Given the description of an element on the screen output the (x, y) to click on. 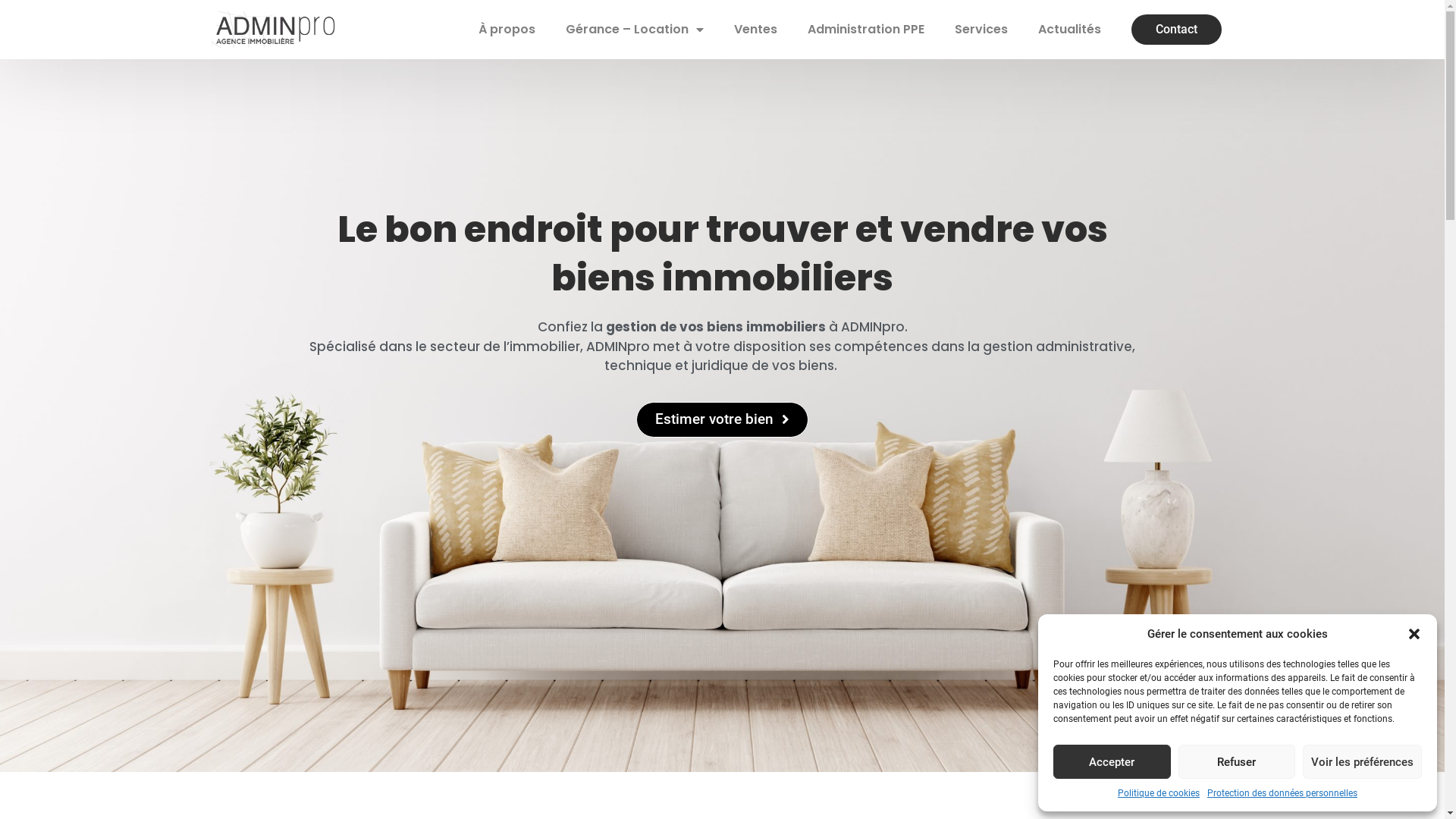
Administration PPE Element type: text (865, 29)
Estimer votre bien Element type: text (722, 418)
Politique de cookies Element type: text (1158, 793)
Accepter Element type: text (1111, 761)
Services Element type: text (980, 29)
Ventes Element type: text (755, 29)
Contact Element type: text (1176, 29)
Refuser Element type: text (1236, 761)
